Given the description of an element on the screen output the (x, y) to click on. 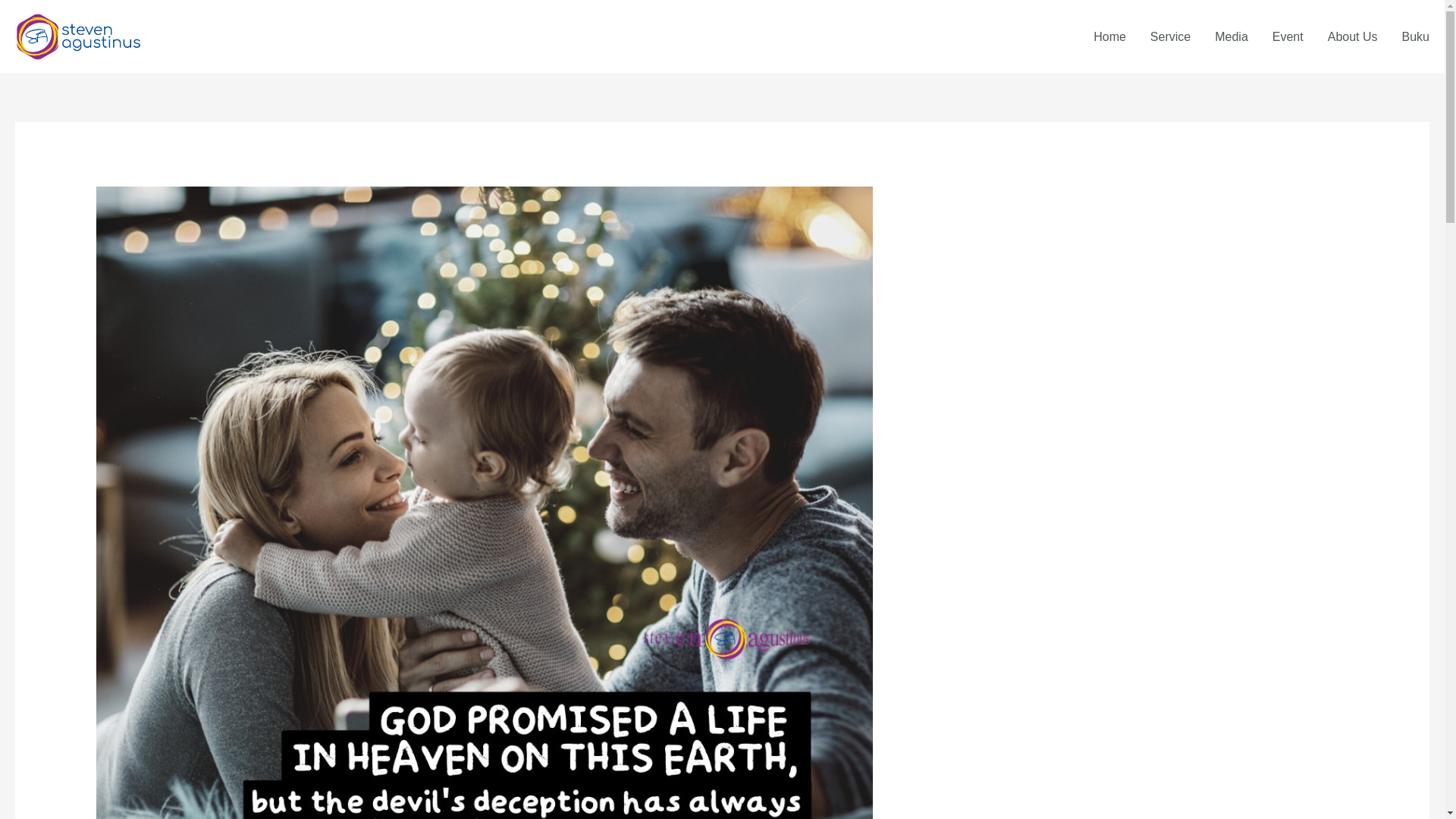
Home (1109, 36)
About Us (1353, 36)
Event (1288, 36)
Service (1170, 36)
Media (1231, 36)
